Given the description of an element on the screen output the (x, y) to click on. 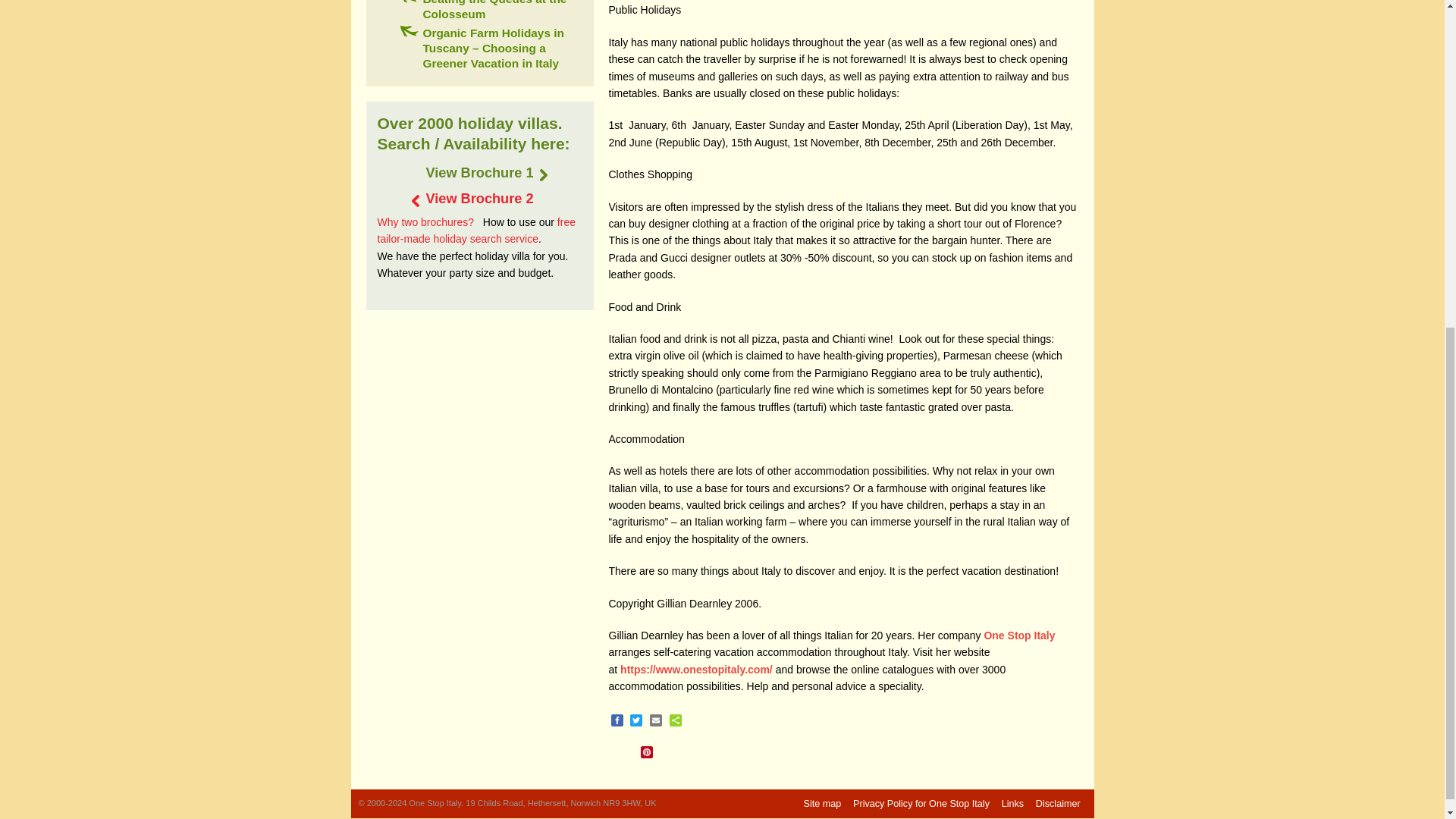
Our free tailor-made holiday search service (476, 230)
